Given the description of an element on the screen output the (x, y) to click on. 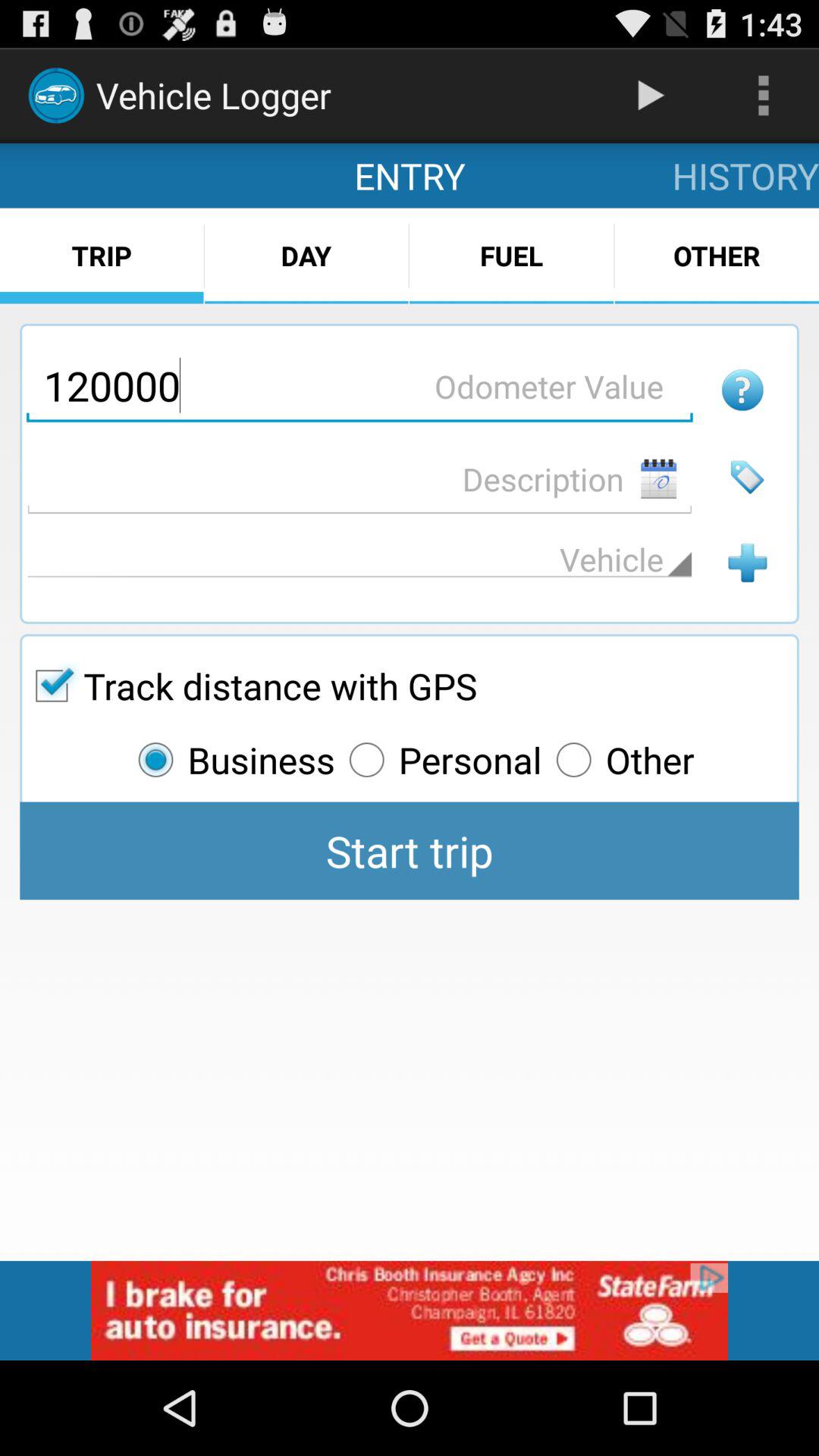
select insurance advertisement (409, 1310)
